Given the description of an element on the screen output the (x, y) to click on. 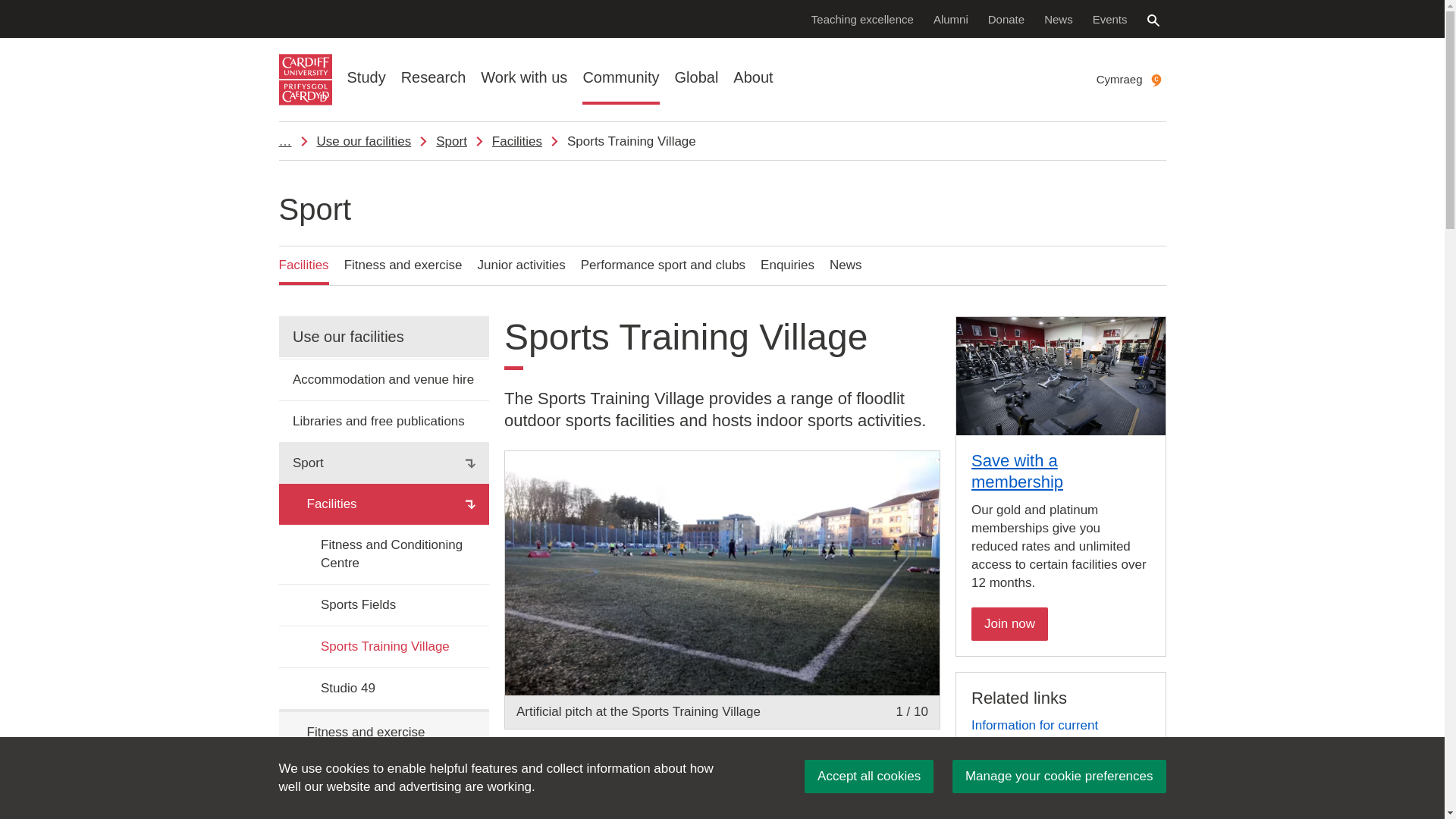
Teaching excellence (862, 19)
Cardiff University logo (305, 79)
Cardiff University logo (305, 79)
Events (1109, 19)
Alumni (951, 19)
Manage your cookie preferences (1059, 776)
Chevron right (1028, 744)
Accept all cookies (869, 776)
Search (1152, 20)
News (1058, 19)
